Given the description of an element on the screen output the (x, y) to click on. 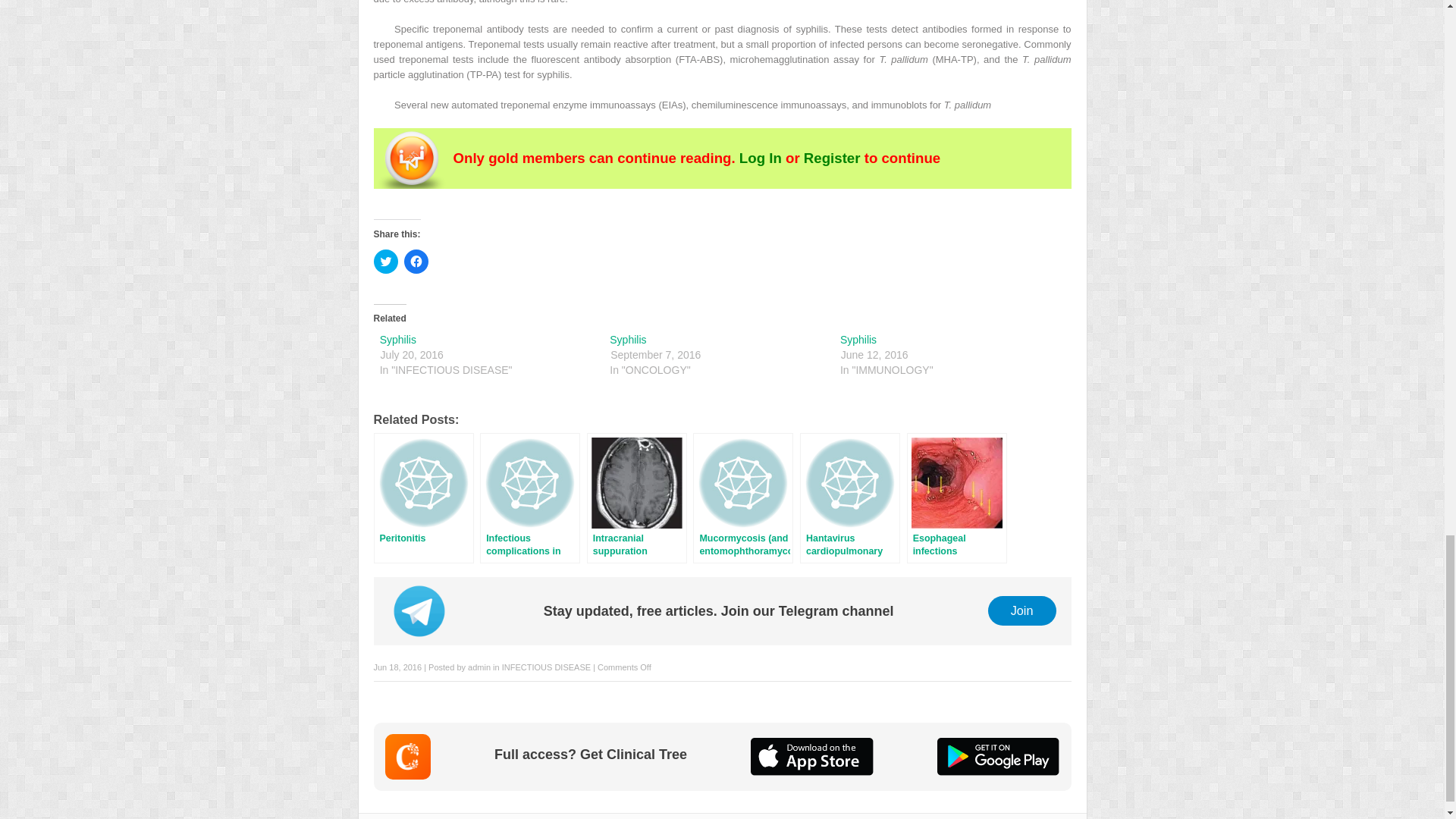
Click to share on Facebook (415, 261)
Syphilis (398, 339)
Syphilis (858, 339)
Syphilis (628, 339)
Posts by admin (478, 666)
Click to share on Twitter (384, 261)
